Given the description of an element on the screen output the (x, y) to click on. 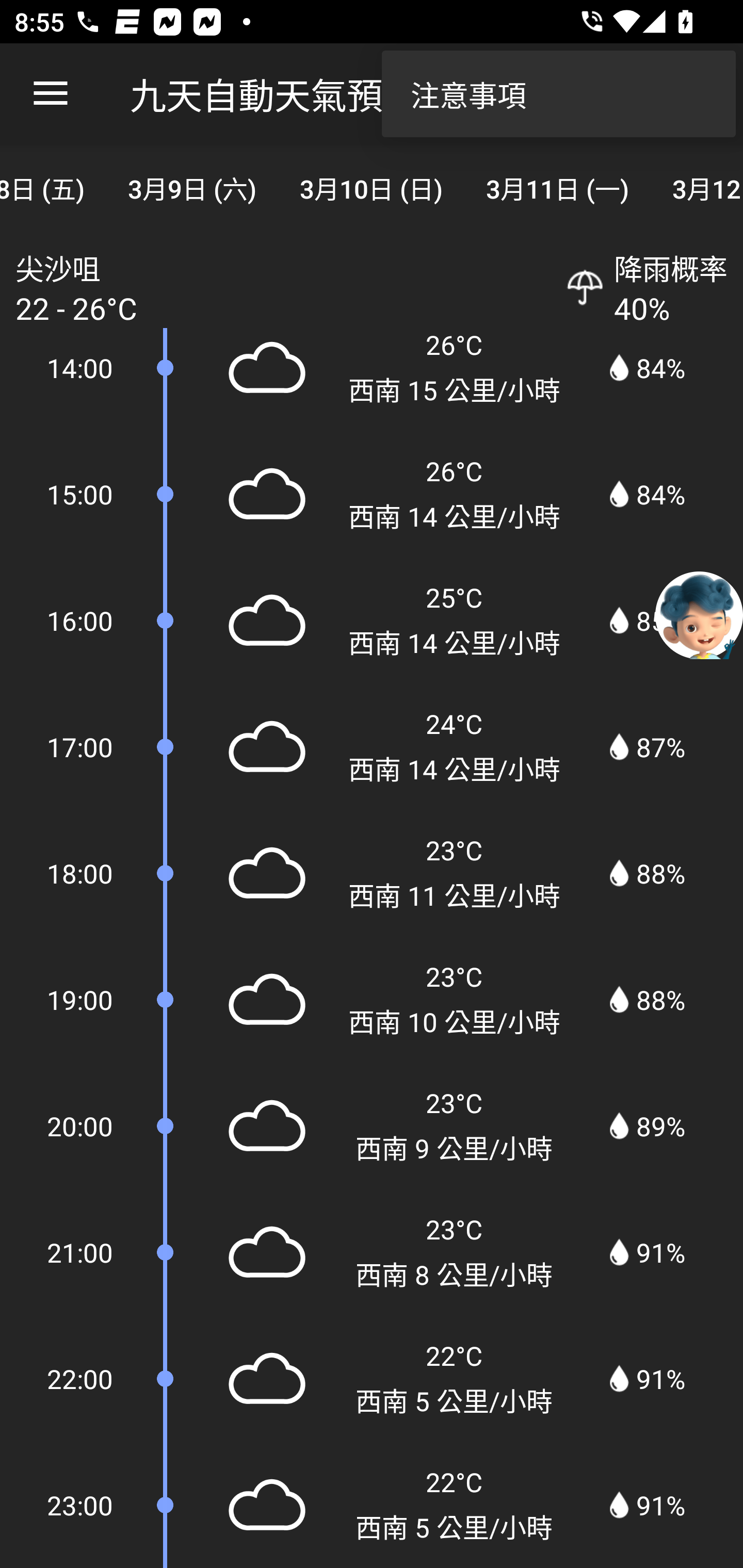
注意事項 (558, 93)
